Given the description of an element on the screen output the (x, y) to click on. 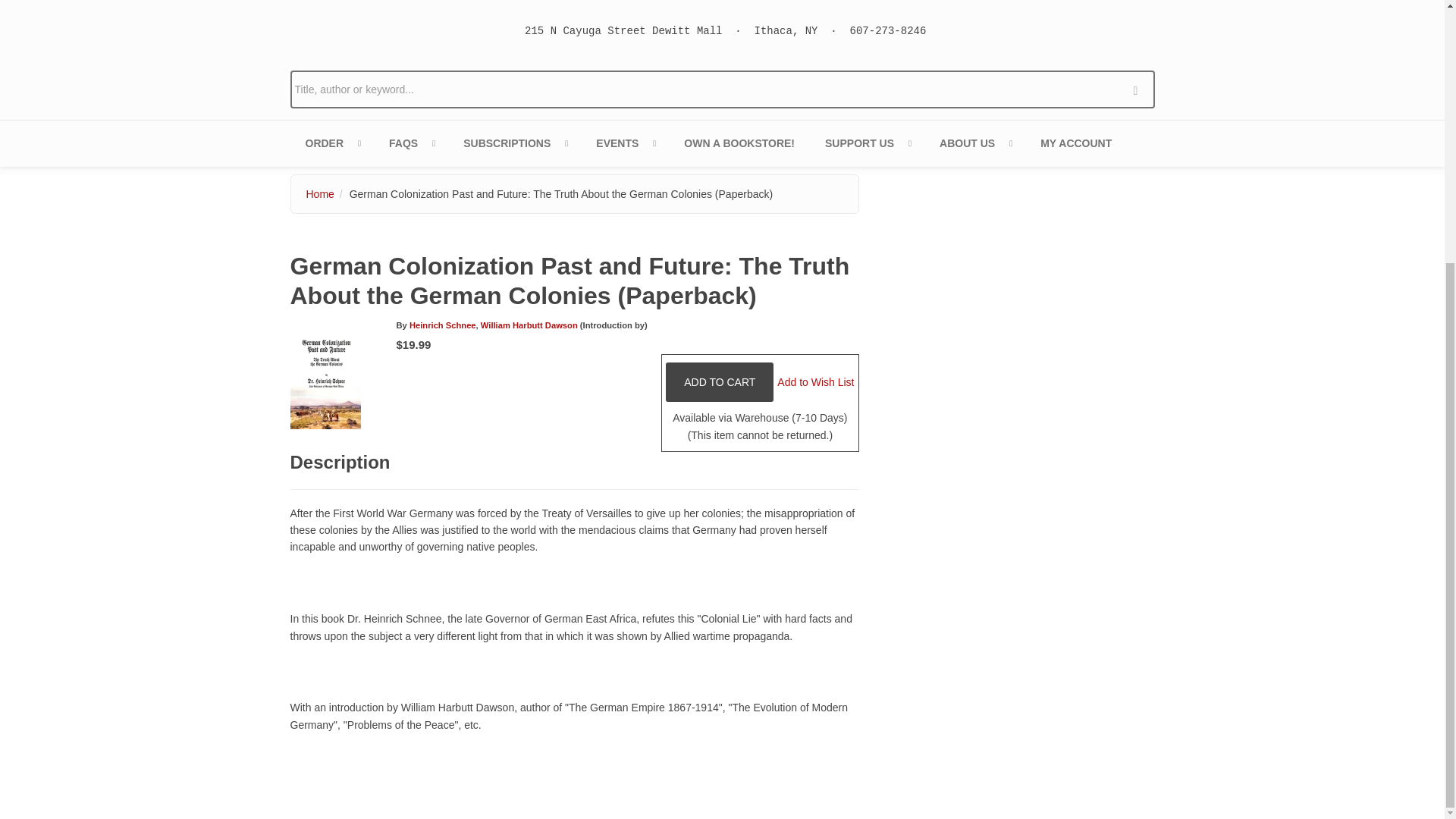
SUBSCRIPTIONS (514, 143)
ORDER (331, 143)
Add to Cart (719, 382)
SUPPORT US (866, 143)
BSB First (514, 143)
OWN A BOOKSTORE! (738, 143)
EVENTS (624, 143)
ABOUT US (974, 143)
FAQS (411, 143)
Title, author or keyword... (721, 89)
